Given the description of an element on the screen output the (x, y) to click on. 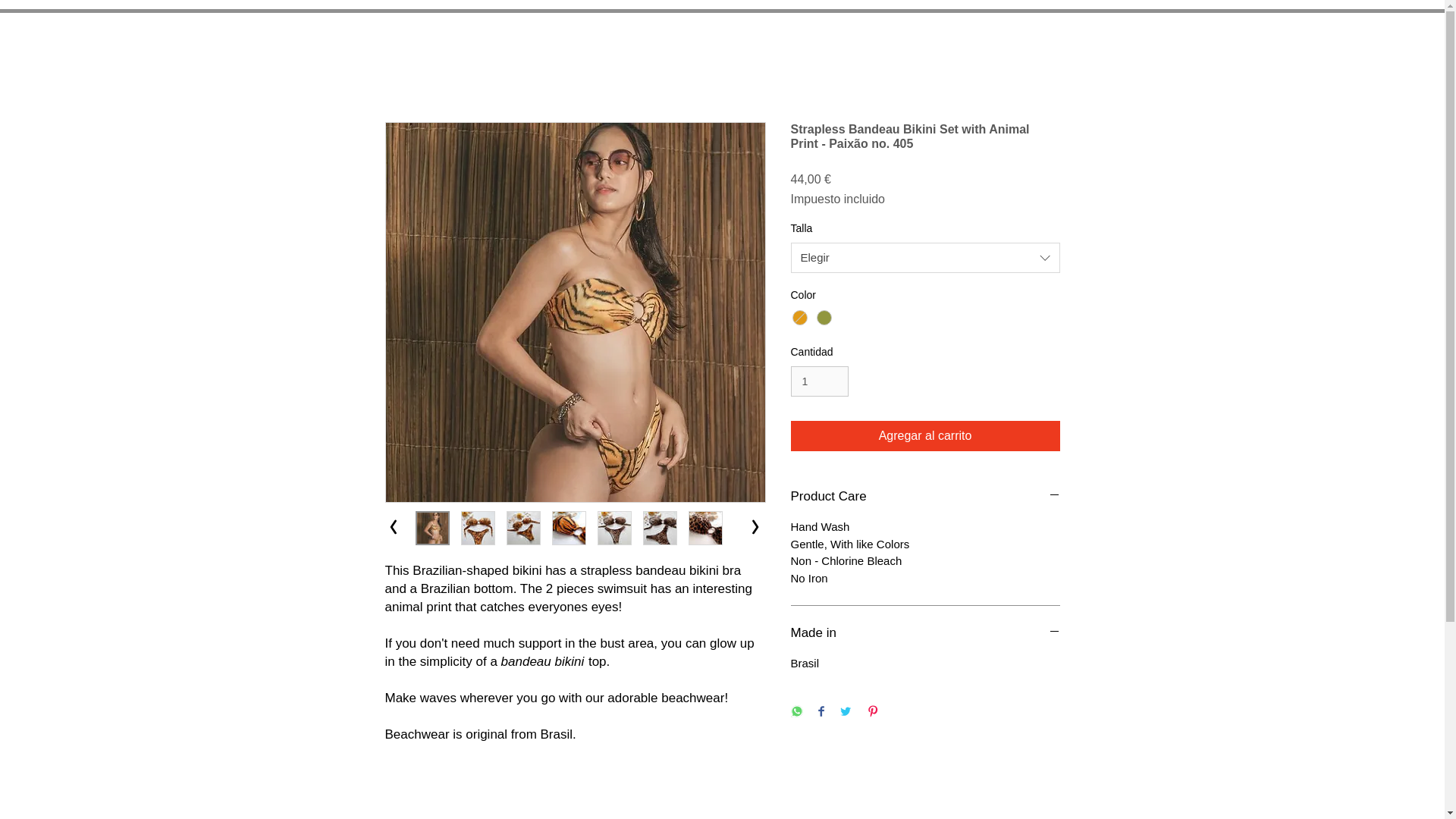
Product Care (924, 496)
Made in (924, 633)
1 (818, 381)
Elegir (924, 257)
Agregar al carrito (924, 435)
